Given the description of an element on the screen output the (x, y) to click on. 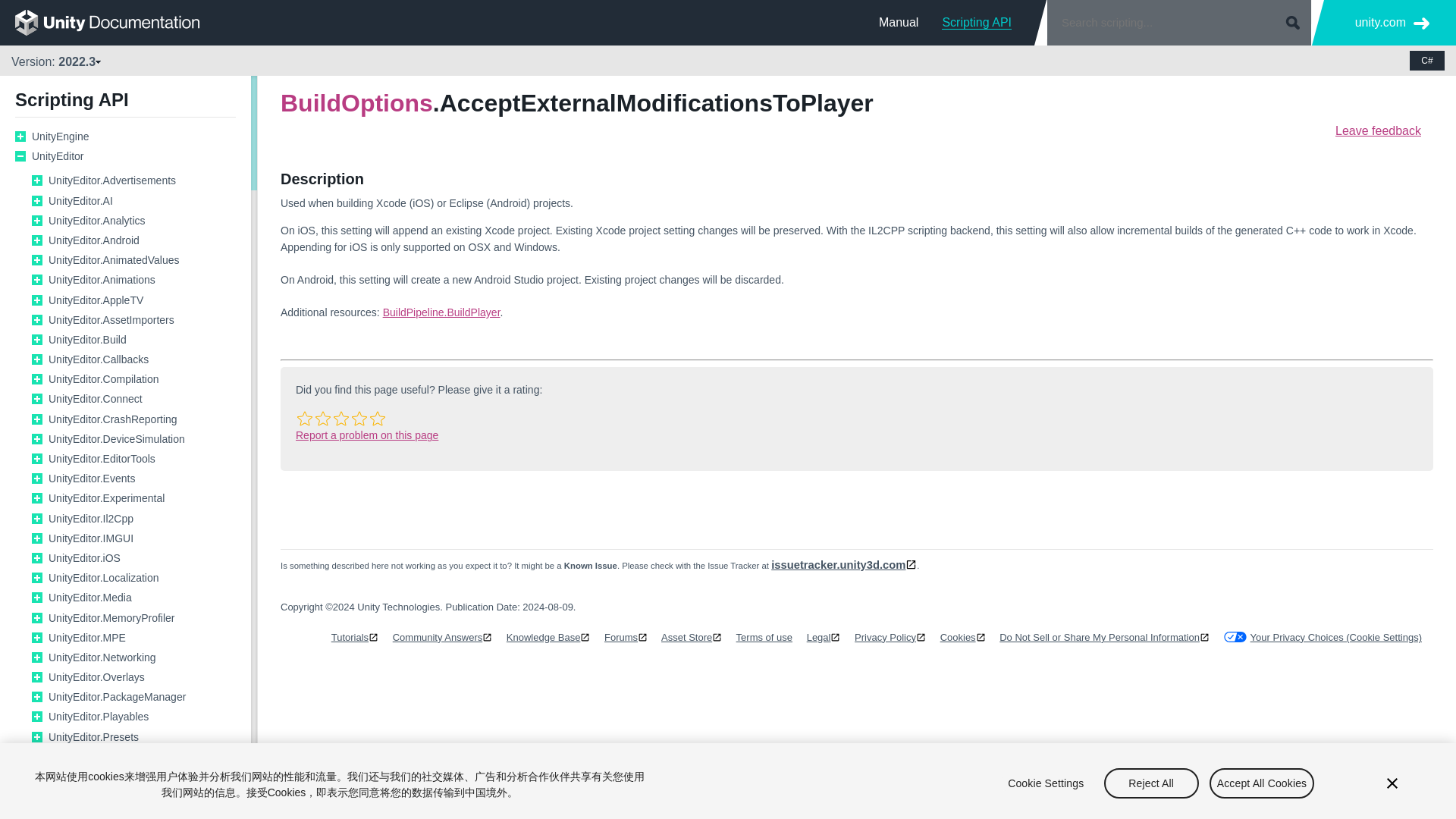
unity.com (1392, 22)
Leave feedback (1378, 130)
Manual (898, 22)
Scripting API (976, 22)
